Given the description of an element on the screen output the (x, y) to click on. 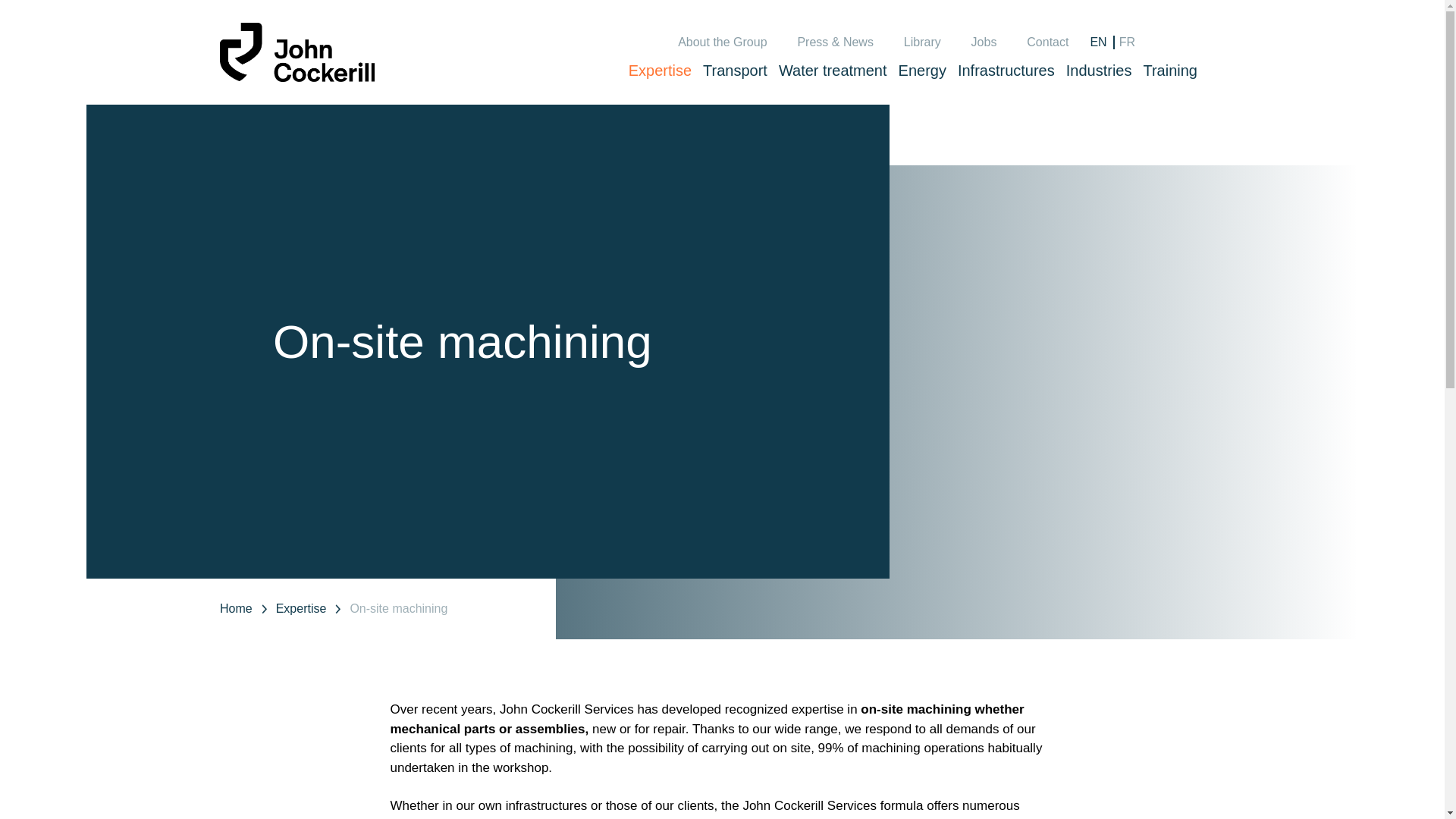
FR (1127, 42)
Expertise (659, 69)
fr (1127, 42)
Water treatment (832, 69)
Jobs (984, 42)
EN (1097, 42)
Contact (1047, 42)
About the Group (722, 42)
Transport (735, 69)
en (1097, 42)
Library (922, 42)
